Given the description of an element on the screen output the (x, y) to click on. 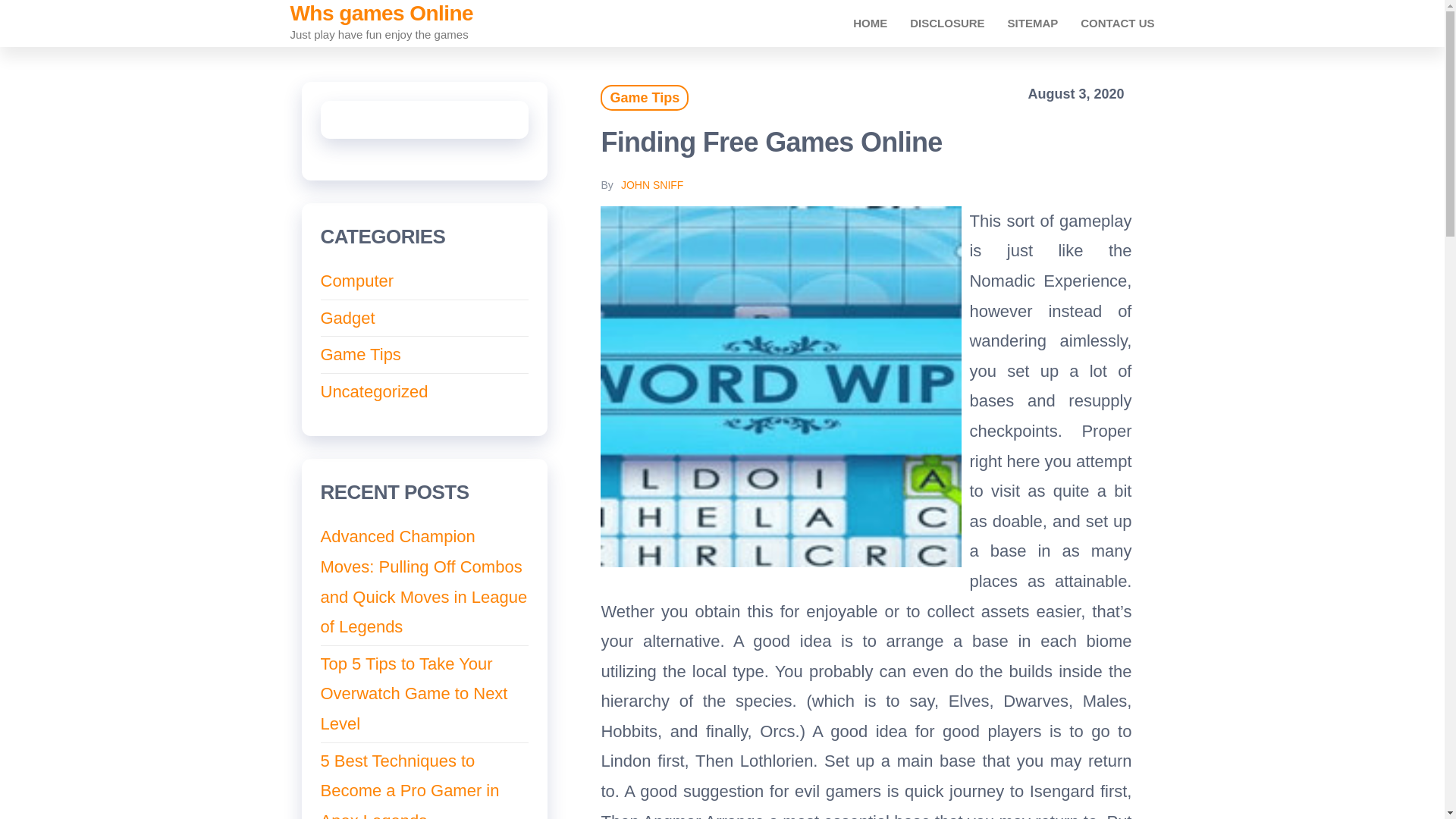
Top 5 Tips to Take Your Overwatch Game to Next Level (413, 693)
Uncategorized (374, 391)
HOME (869, 22)
DISCLOSURE (946, 22)
DISCLOSURE (946, 22)
HOME (869, 22)
Game Tips (643, 97)
Game Tips (360, 353)
CONTACT US (1117, 22)
Gadget (347, 317)
